Given the description of an element on the screen output the (x, y) to click on. 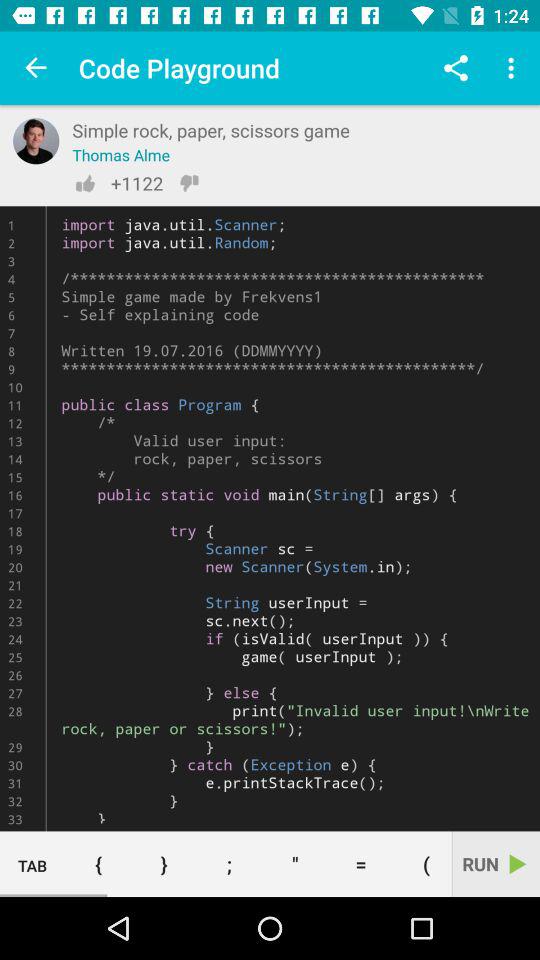
turn on item below import java util (295, 863)
